Given the description of an element on the screen output the (x, y) to click on. 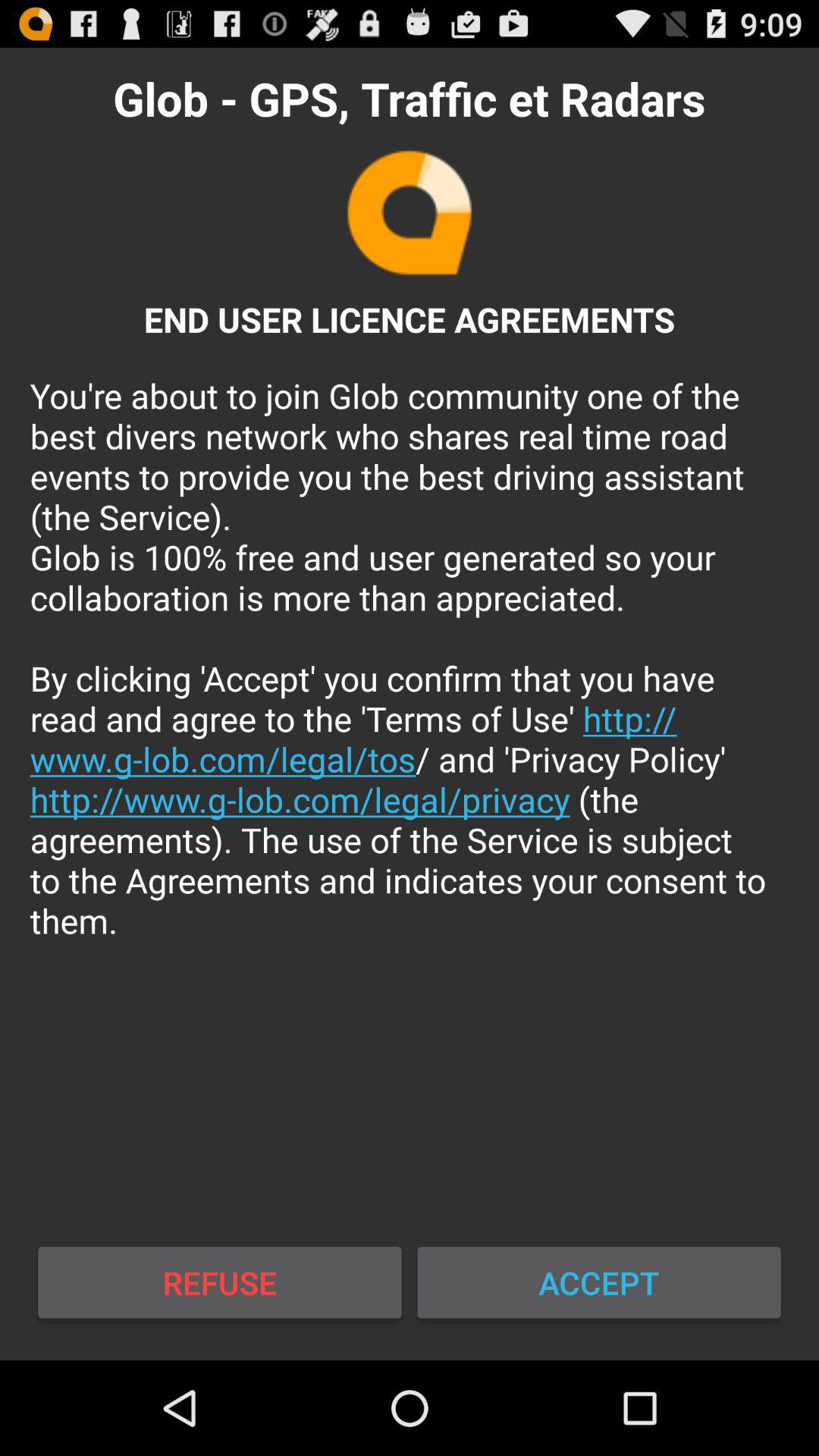
press the item at the center (409, 657)
